Given the description of an element on the screen output the (x, y) to click on. 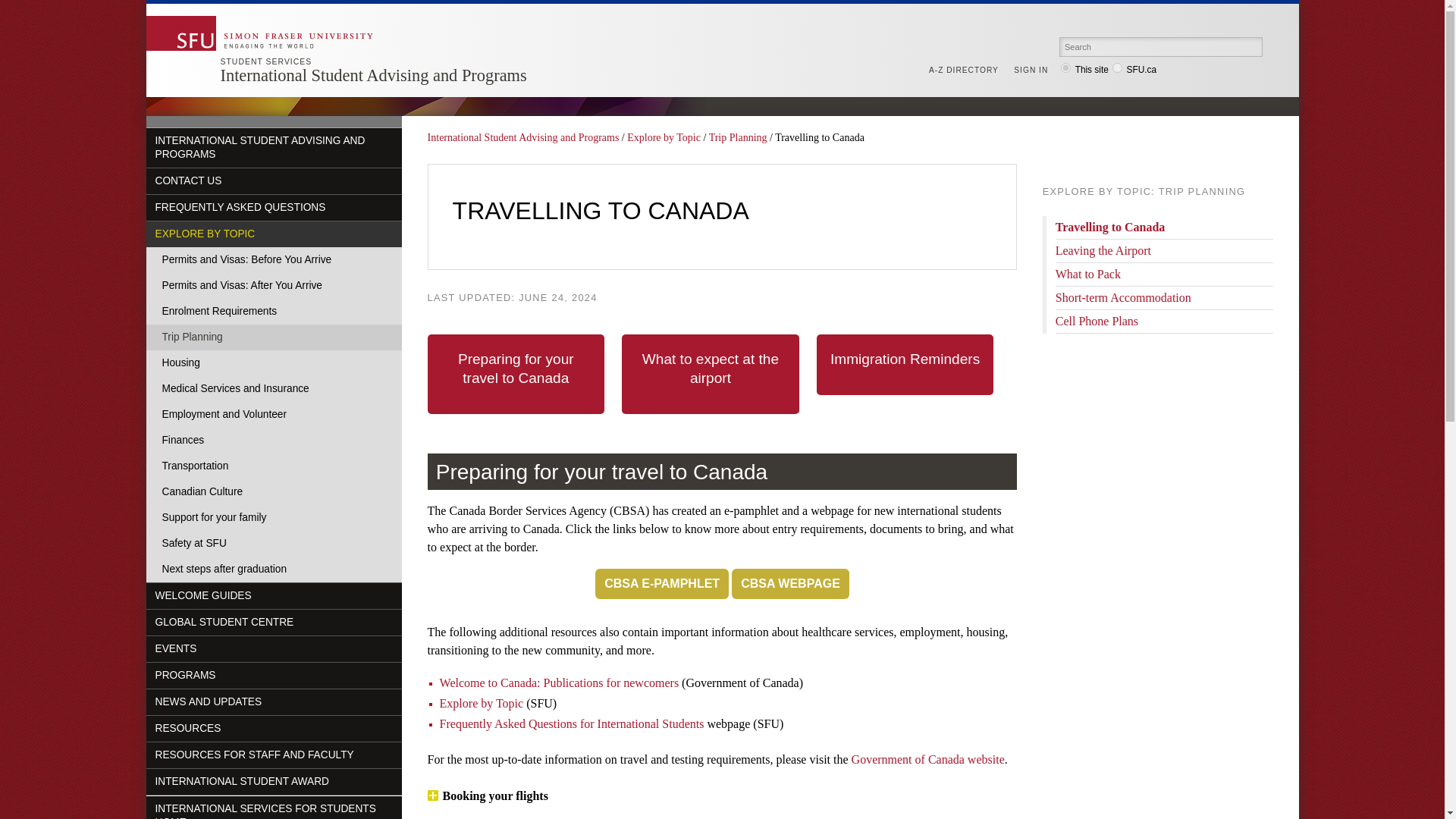
A-Z DIRECTORY (967, 70)
Leaving the Airport (1103, 250)
site (1065, 67)
Short-term Accommodation (1123, 297)
Cell Phone Plans (1096, 320)
SIGN IN (1034, 70)
What to Pack (1088, 273)
Travelling to Canada (1110, 226)
International Student Advising and Programs (372, 75)
sfu (1117, 67)
STUDENT SERVICES (265, 61)
